Given the description of an element on the screen output the (x, y) to click on. 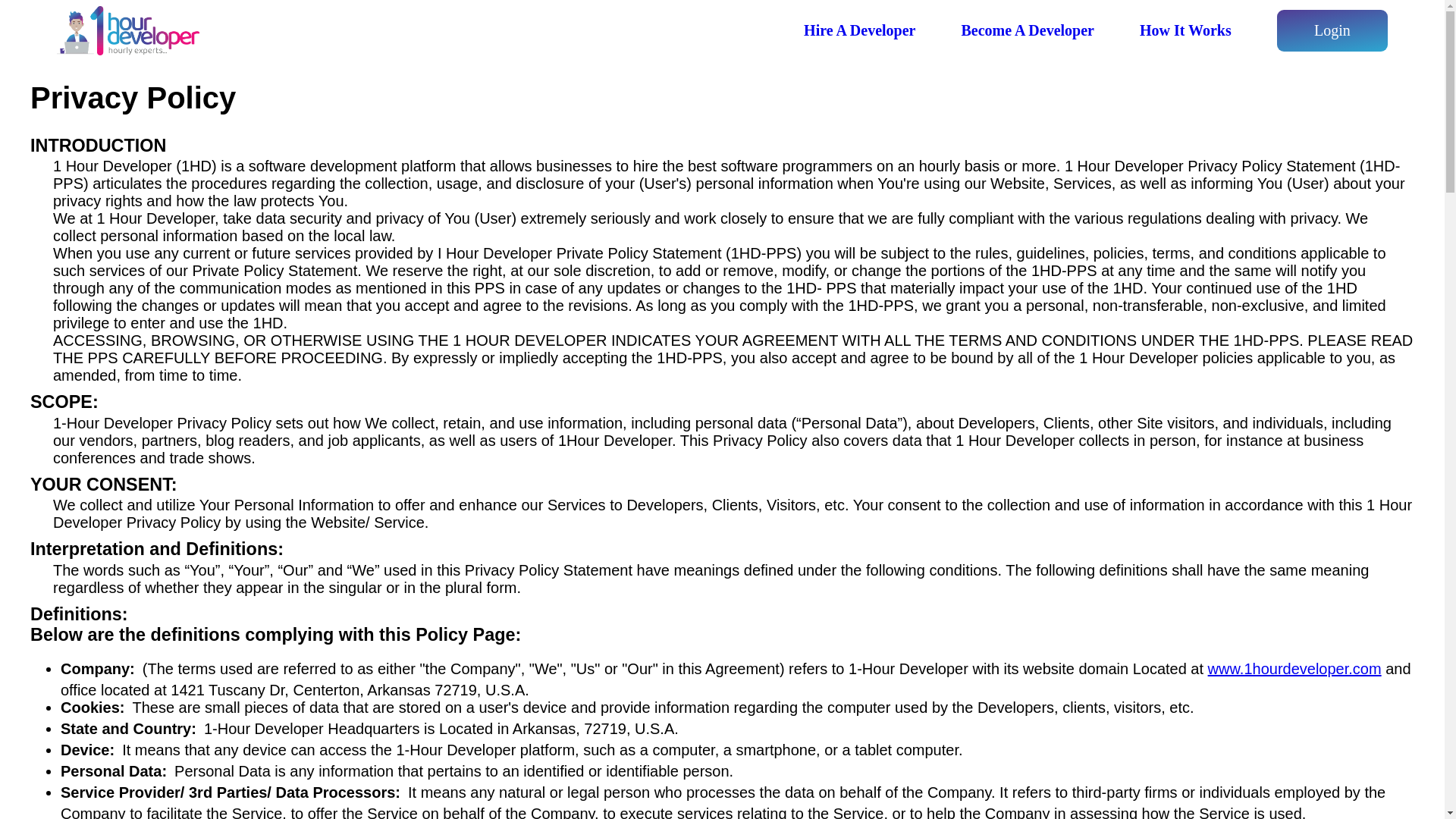
Become A Developer Element type: text (1027, 29)
Login Element type: text (1332, 29)
www.1hourdeveloper.com Element type: text (1294, 668)
Hire A Developer Element type: text (859, 29)
How It Works Element type: text (1185, 29)
